Given the description of an element on the screen output the (x, y) to click on. 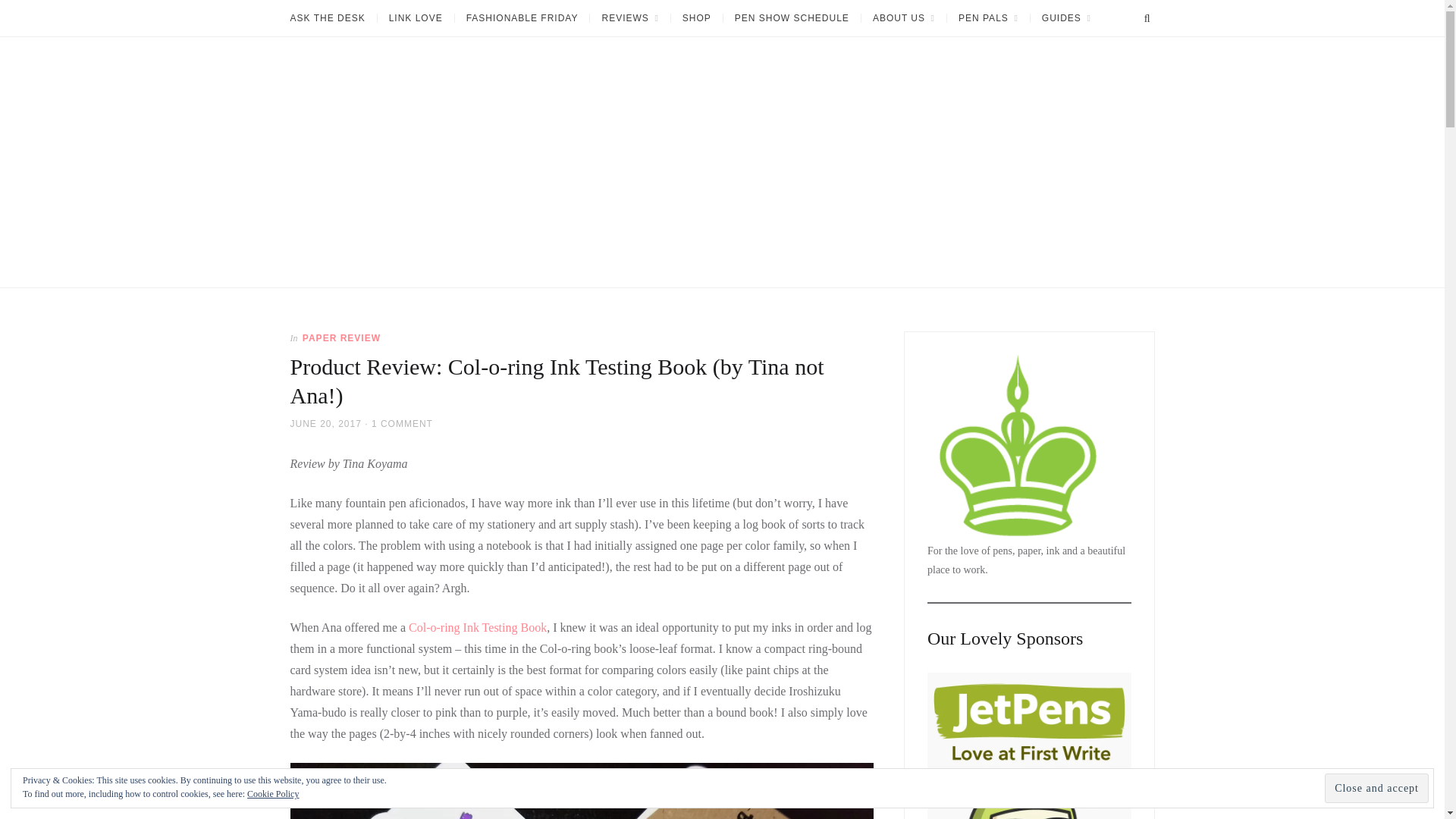
LINK LOVE (415, 17)
1 COMMENT (401, 423)
JUNE 20, 2017 (325, 423)
ABOUT US (903, 17)
ASK THE DESK (332, 17)
Col-o-ring Ink Testing Book (478, 626)
PEN SHOW SCHEDULE (791, 17)
The Well-Appointed Desk (346, 292)
FASHIONABLE FRIDAY (521, 17)
REVIEWS (629, 17)
PAPER REVIEW (341, 337)
PEN PALS (987, 17)
SHOP (695, 17)
GUIDES (1065, 17)
Close and accept (1376, 788)
